Given the description of an element on the screen output the (x, y) to click on. 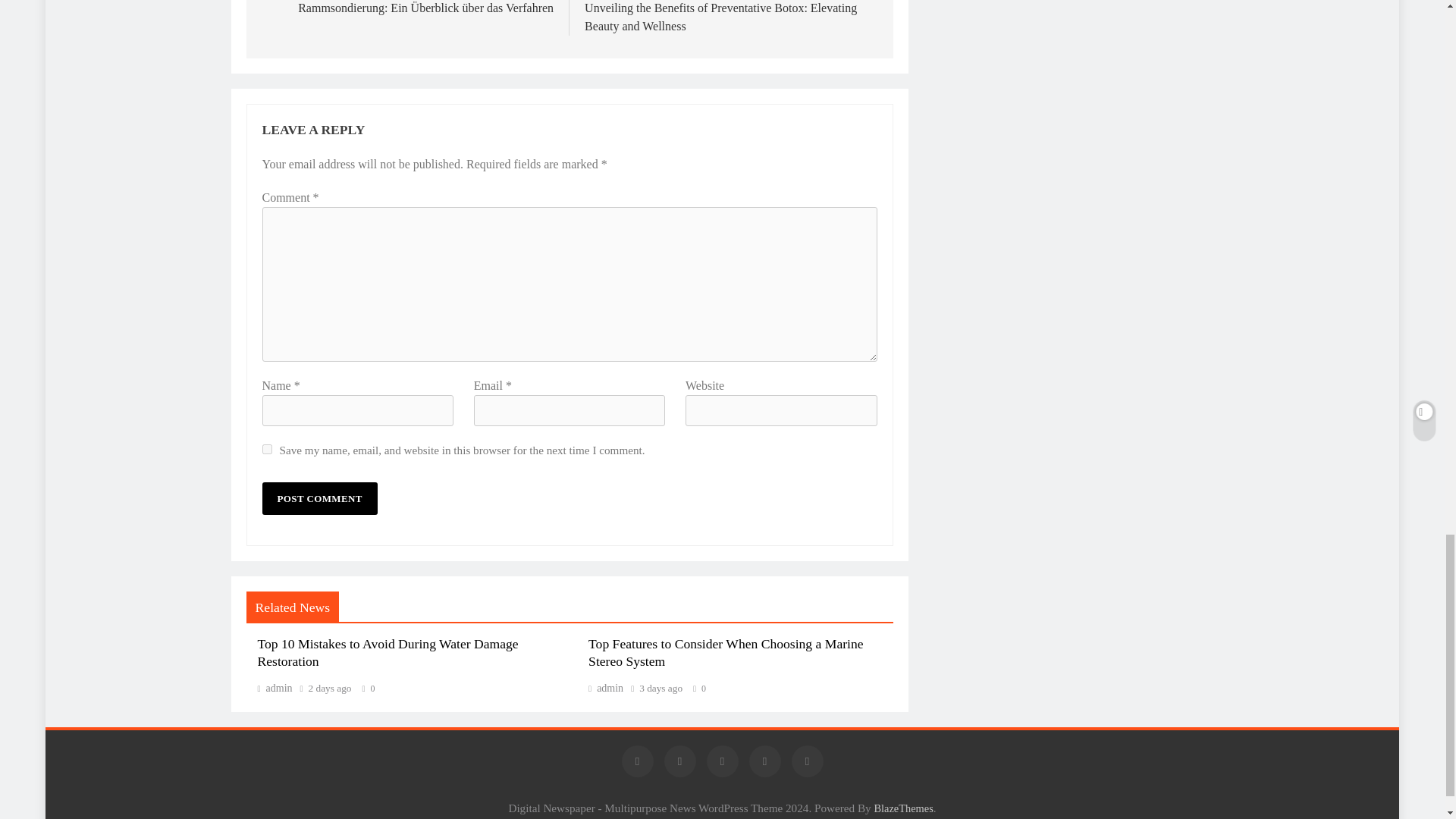
Top 10 Mistakes to Avoid During Water Damage Restoration (387, 652)
Post Comment (319, 498)
admin (274, 687)
yes (267, 449)
admin (605, 687)
3 days ago (660, 688)
Post Comment (319, 498)
2 days ago (330, 688)
